Given the description of an element on the screen output the (x, y) to click on. 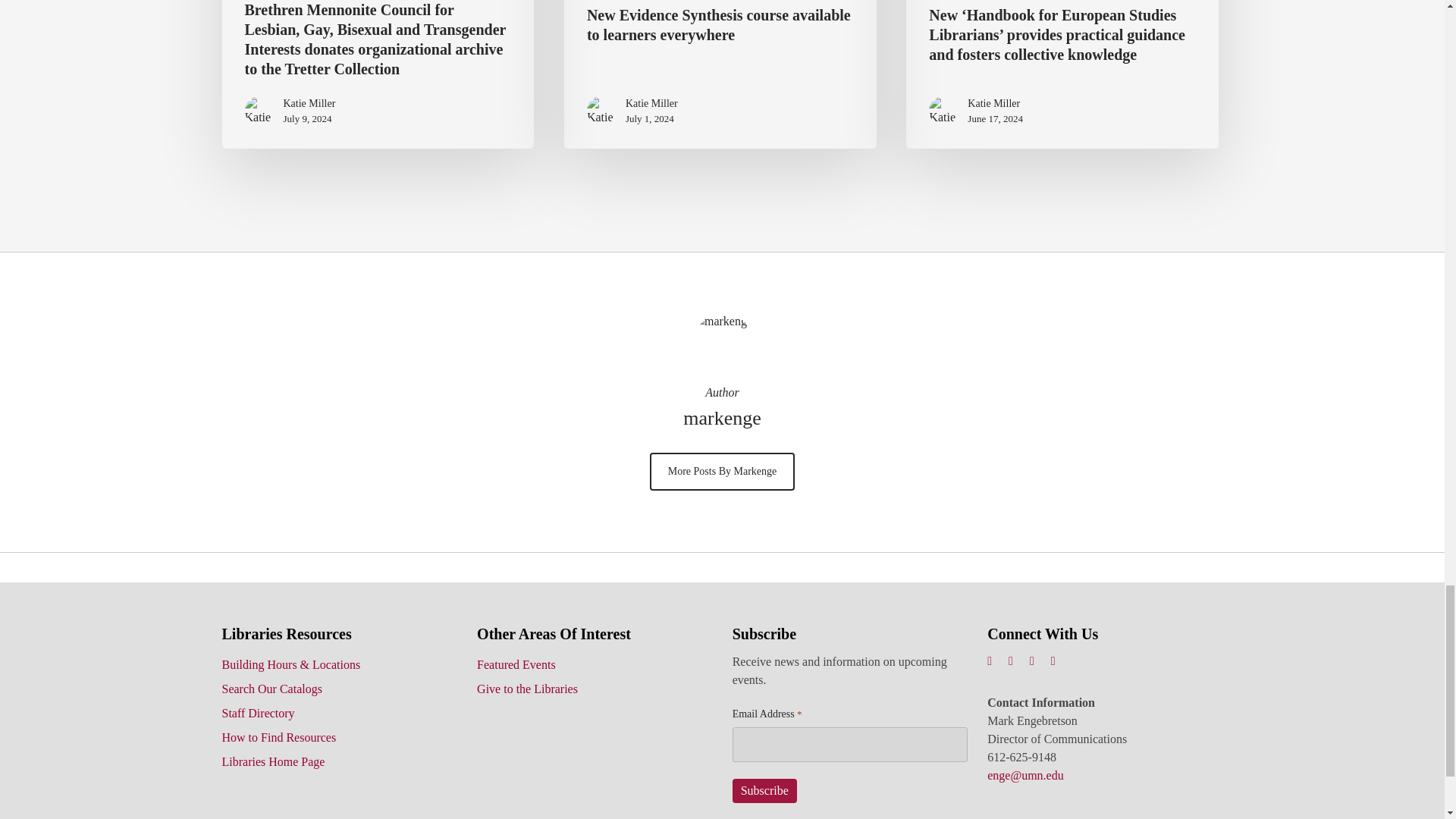
Subscribe (764, 790)
